Given the description of an element on the screen output the (x, y) to click on. 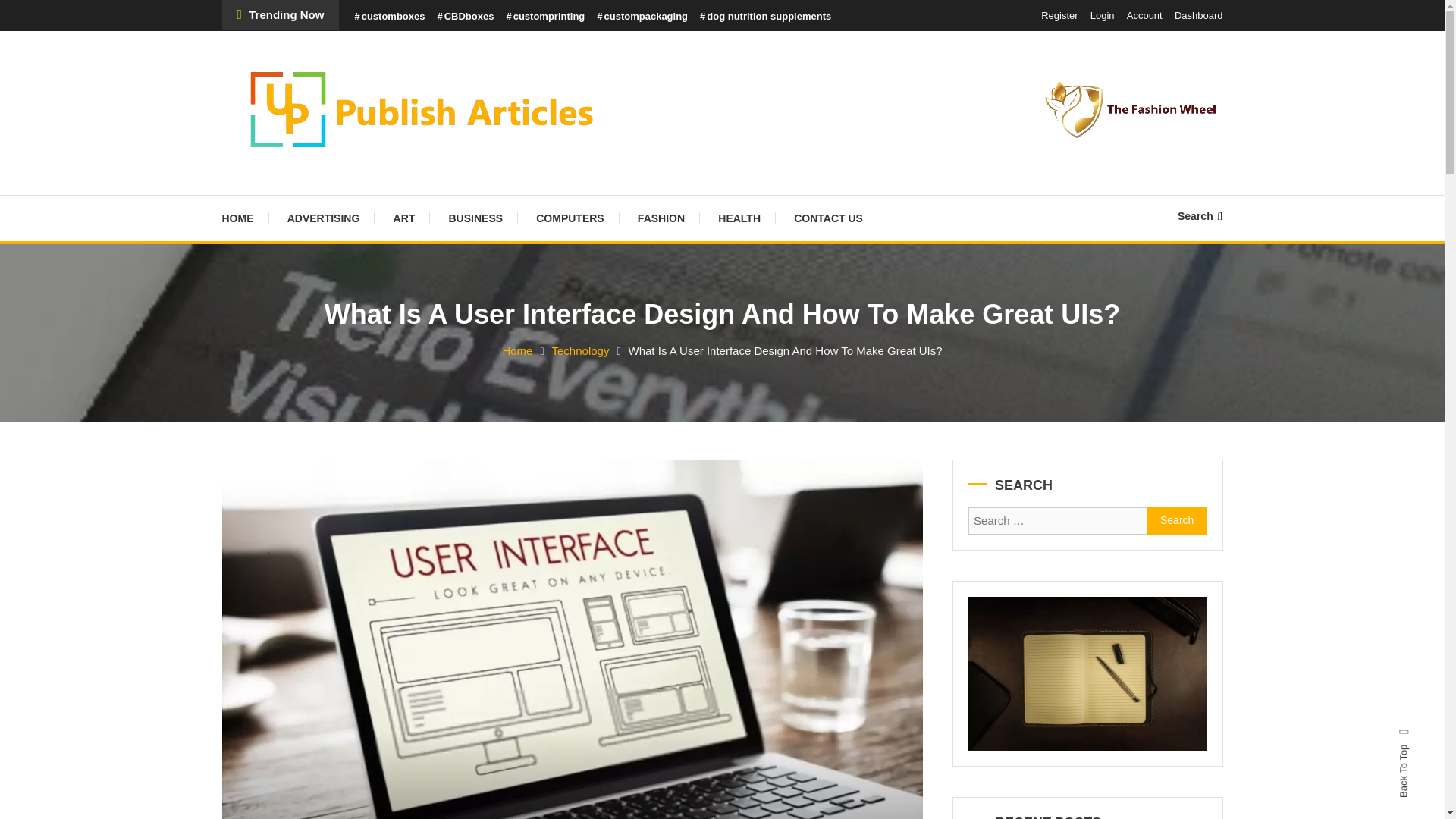
Search (768, 432)
custompackaging (641, 16)
Home (517, 350)
CBDboxes (464, 16)
COMPUTERS (569, 217)
customprinting (545, 16)
Search (1177, 520)
Search (1200, 215)
Technology (580, 350)
HOME (244, 217)
Upublish Articles (333, 184)
HEALTH (739, 217)
CONTACT US (827, 217)
FASHION (661, 217)
Login (1102, 15)
